Given the description of an element on the screen output the (x, y) to click on. 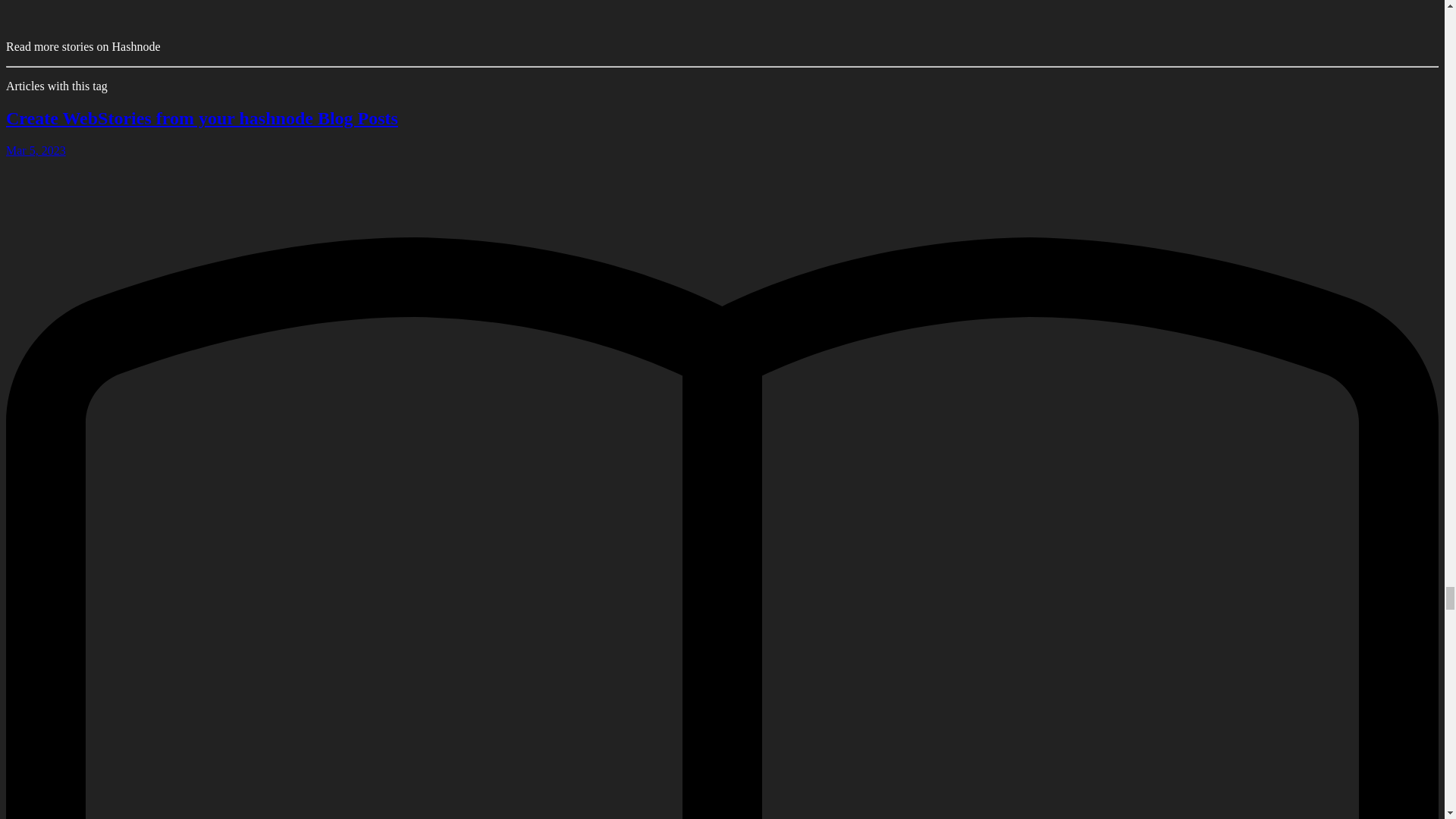
Create WebStories from your hashnode Blog Posts (201, 117)
